Given the description of an element on the screen output the (x, y) to click on. 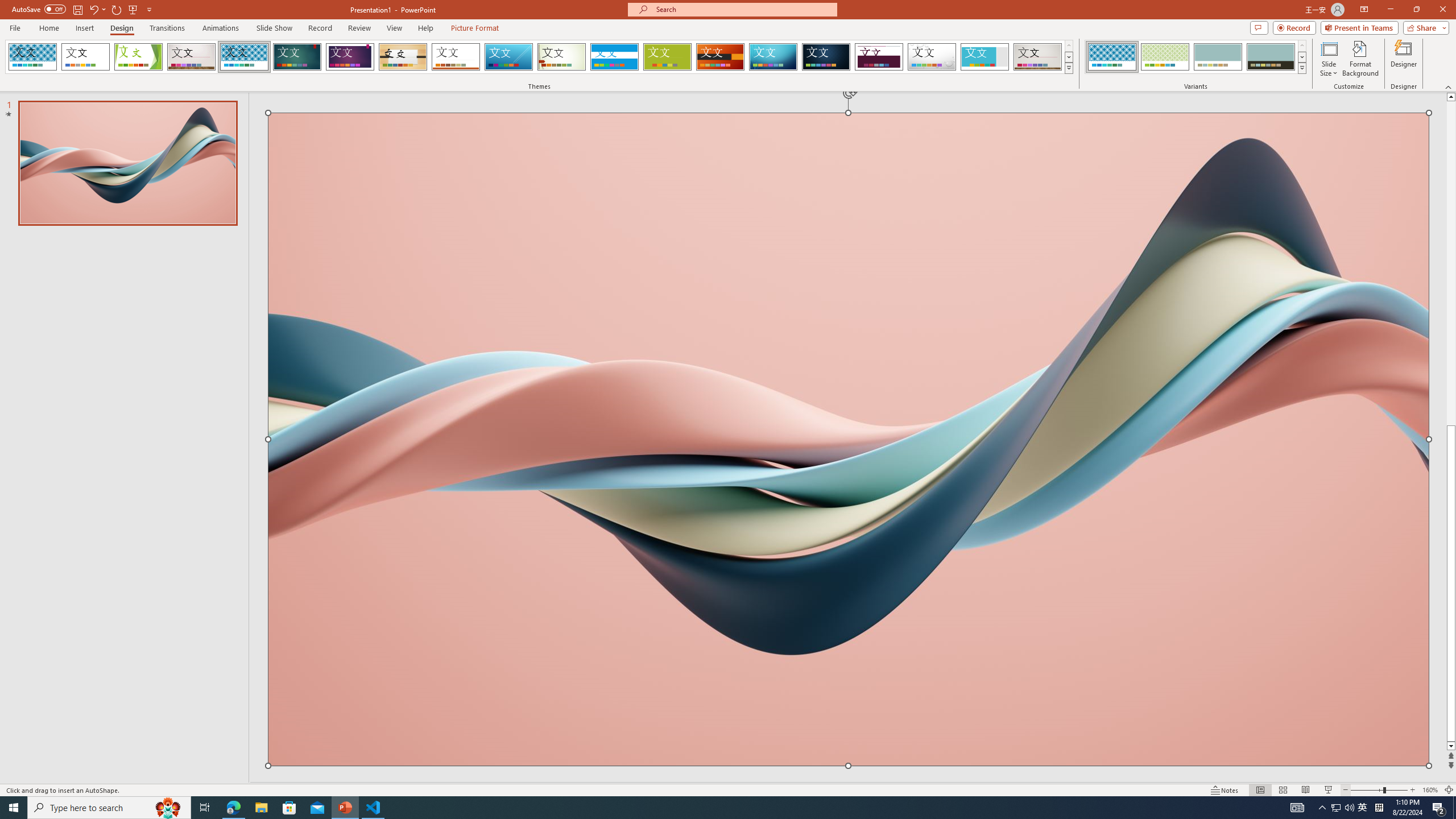
Basis (667, 56)
AfterglowVTI (32, 56)
Wisp (561, 56)
Frame (984, 56)
Integral Variant 1 (1112, 56)
Microsoft search (742, 9)
Line down (1450, 746)
Damask (826, 56)
